Given the description of an element on the screen output the (x, y) to click on. 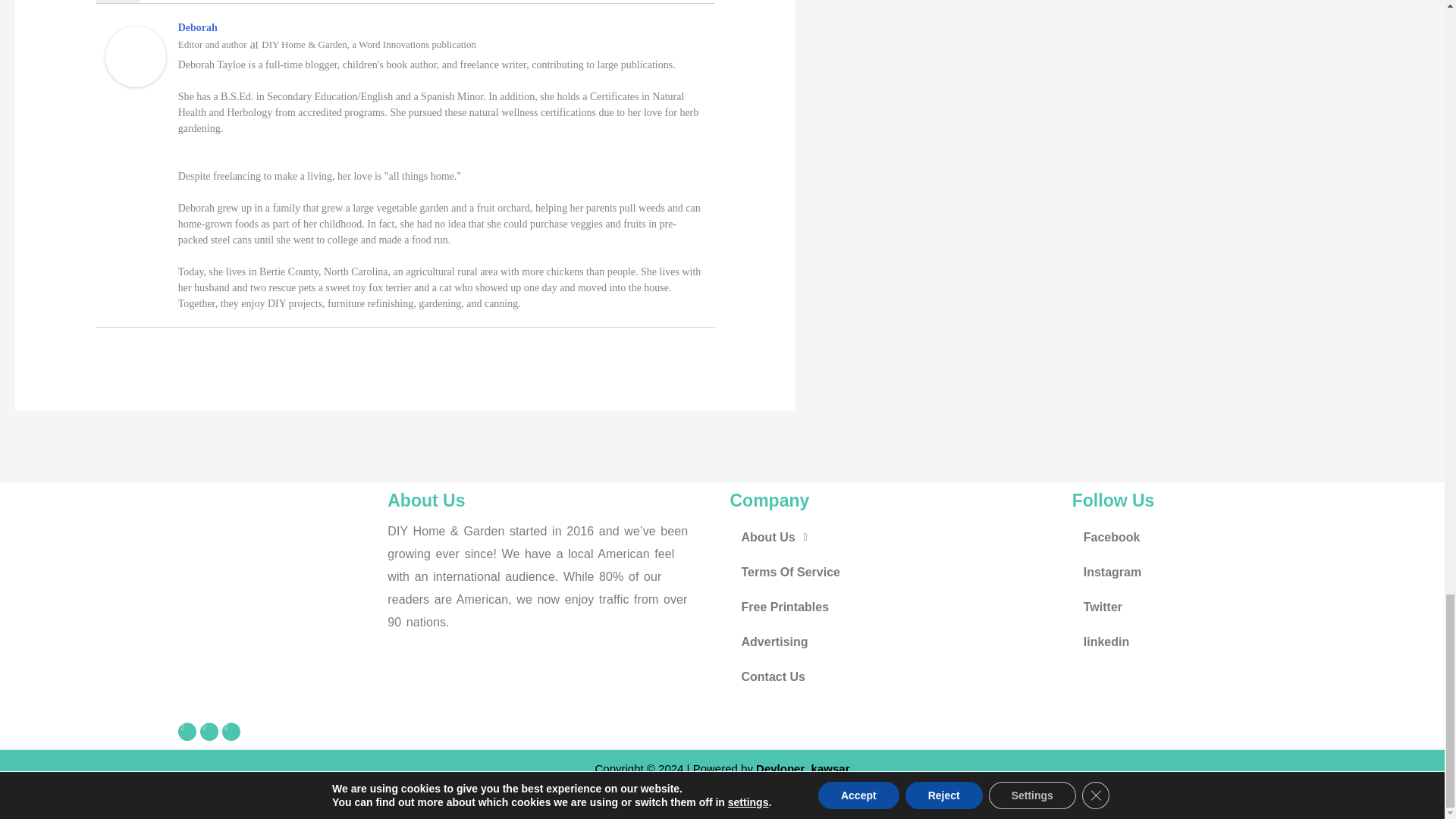
Instagram (1235, 572)
Terms Of Service (893, 572)
Advertising (893, 642)
Recent Posts (179, 1)
Twitter (209, 731)
About Us (893, 537)
Deborah (134, 54)
Contact Us (893, 677)
Youtube (231, 731)
Author (117, 1)
Facebook-f (186, 731)
Facebook (1235, 537)
Deborah (196, 26)
Free Printables (893, 606)
